Given the description of an element on the screen output the (x, y) to click on. 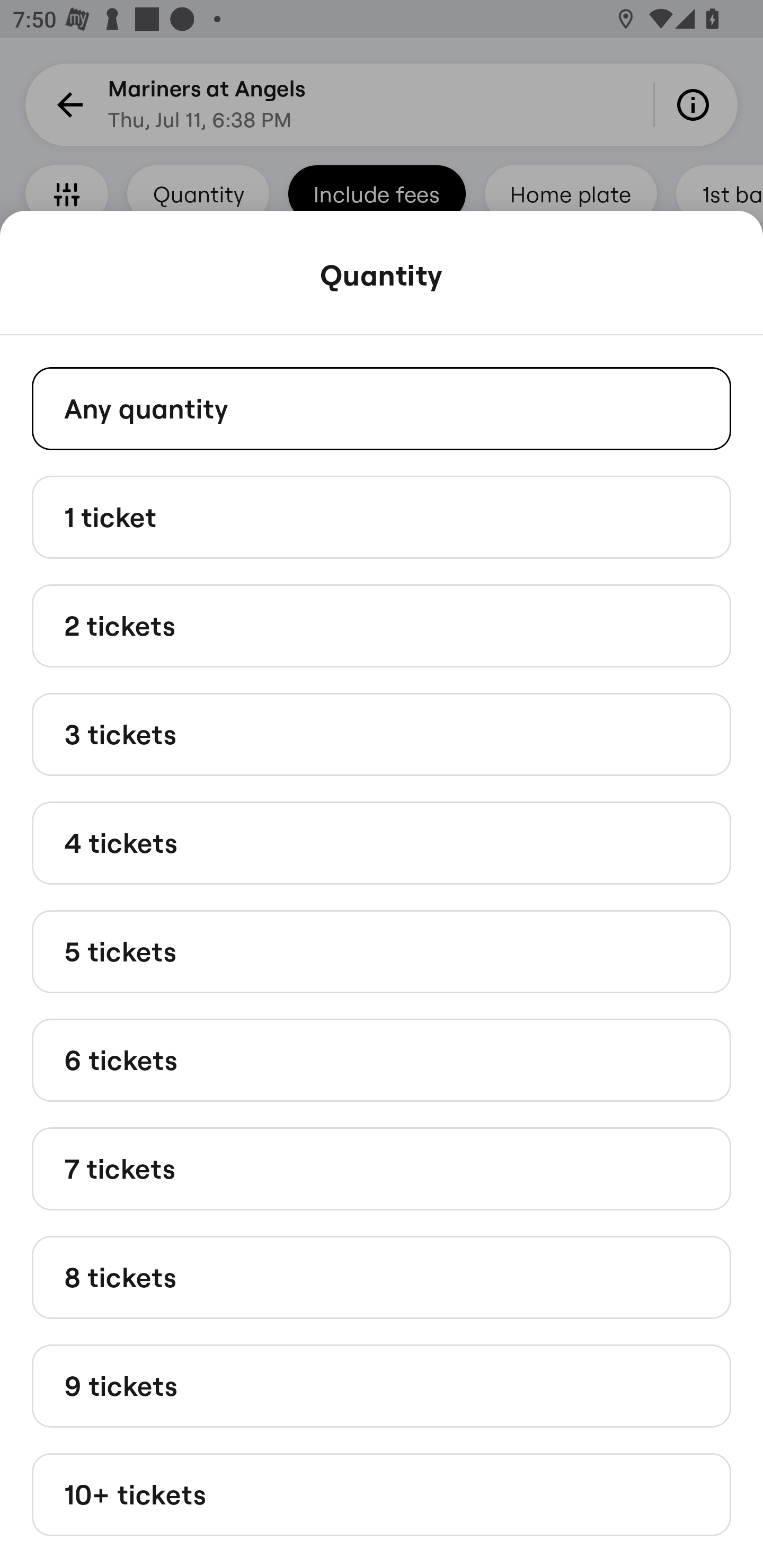
Any quantity (381, 408)
1 ticket (381, 516)
2 tickets (381, 625)
3 tickets (381, 734)
4 tickets (381, 842)
5 tickets (381, 950)
6 tickets (381, 1060)
7 tickets (381, 1168)
8 tickets (381, 1276)
9 tickets (381, 1384)
10+ tickets (381, 1494)
